Given the description of an element on the screen output the (x, y) to click on. 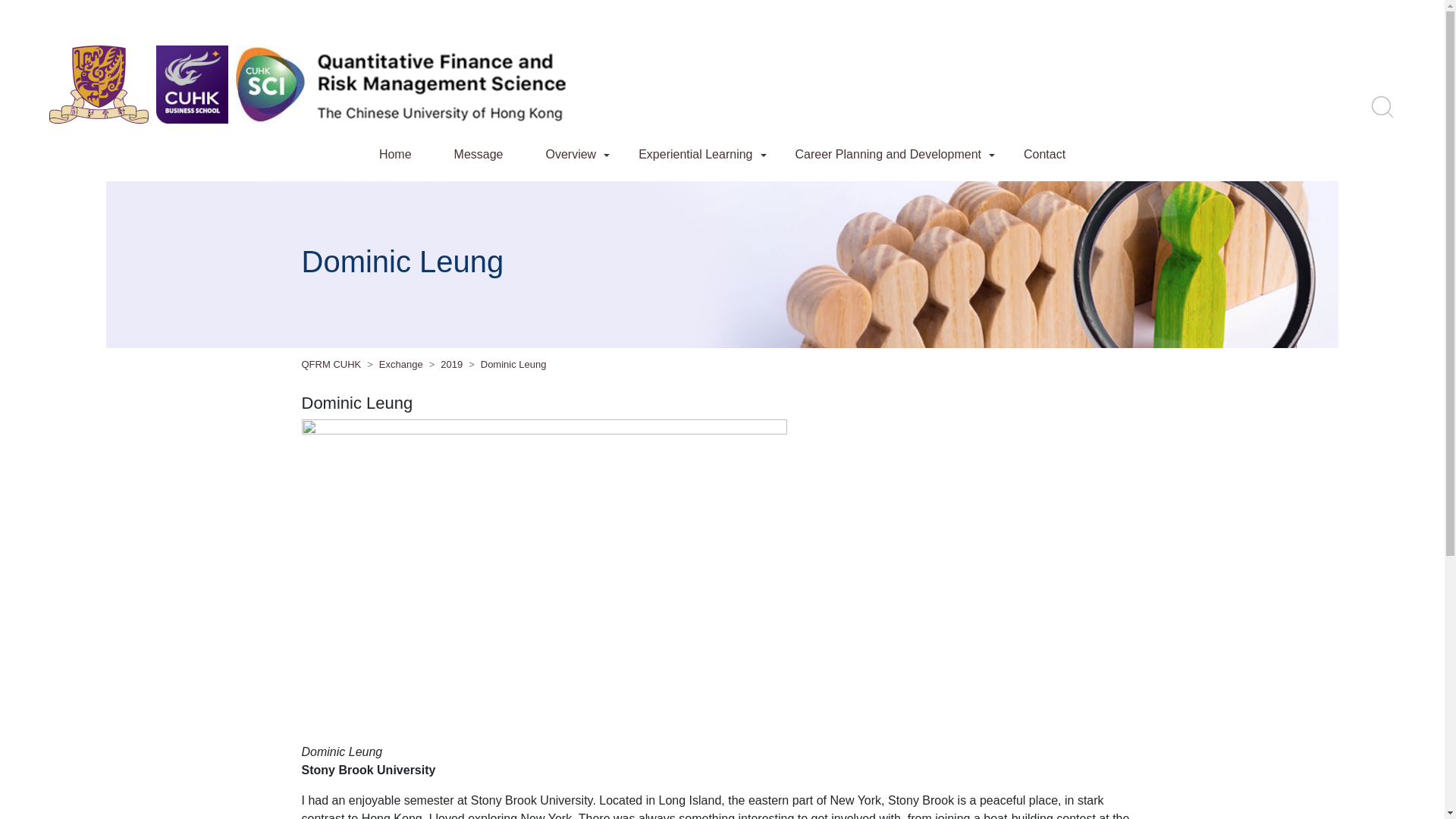
Experiential Learning (694, 154)
Home (394, 154)
Message (478, 154)
Contact (1044, 154)
Career Planning and Development (888, 154)
QFRM CUHK (331, 364)
Home (394, 154)
Quantitative Finance and Risk Management Science (443, 84)
Experiential Learning (694, 154)
Career Planning and Development (888, 154)
